Given the description of an element on the screen output the (x, y) to click on. 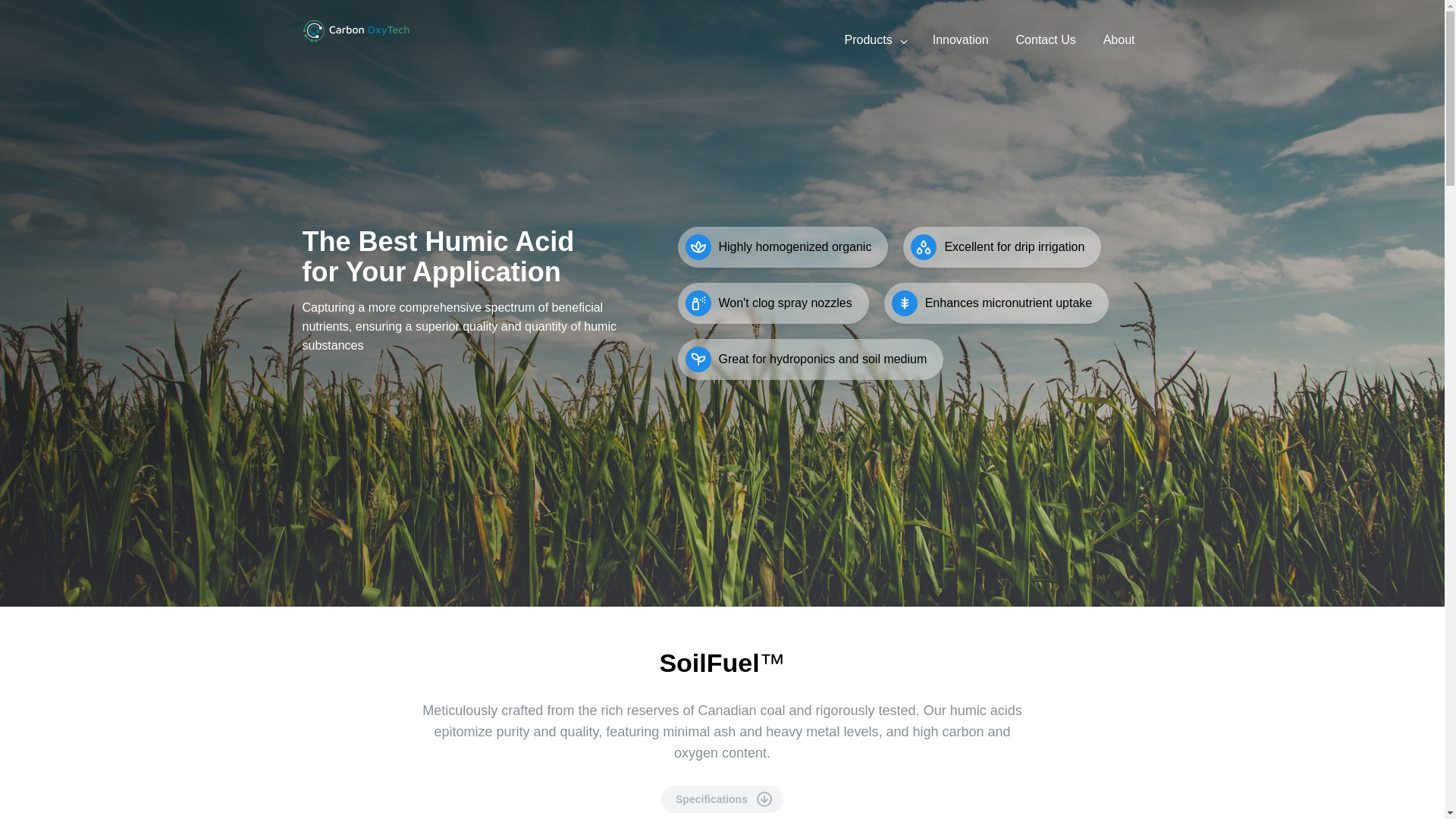
Products (866, 42)
Specifications (722, 799)
About (1119, 42)
Innovation (959, 42)
Contact Us (1046, 42)
